Given the description of an element on the screen output the (x, y) to click on. 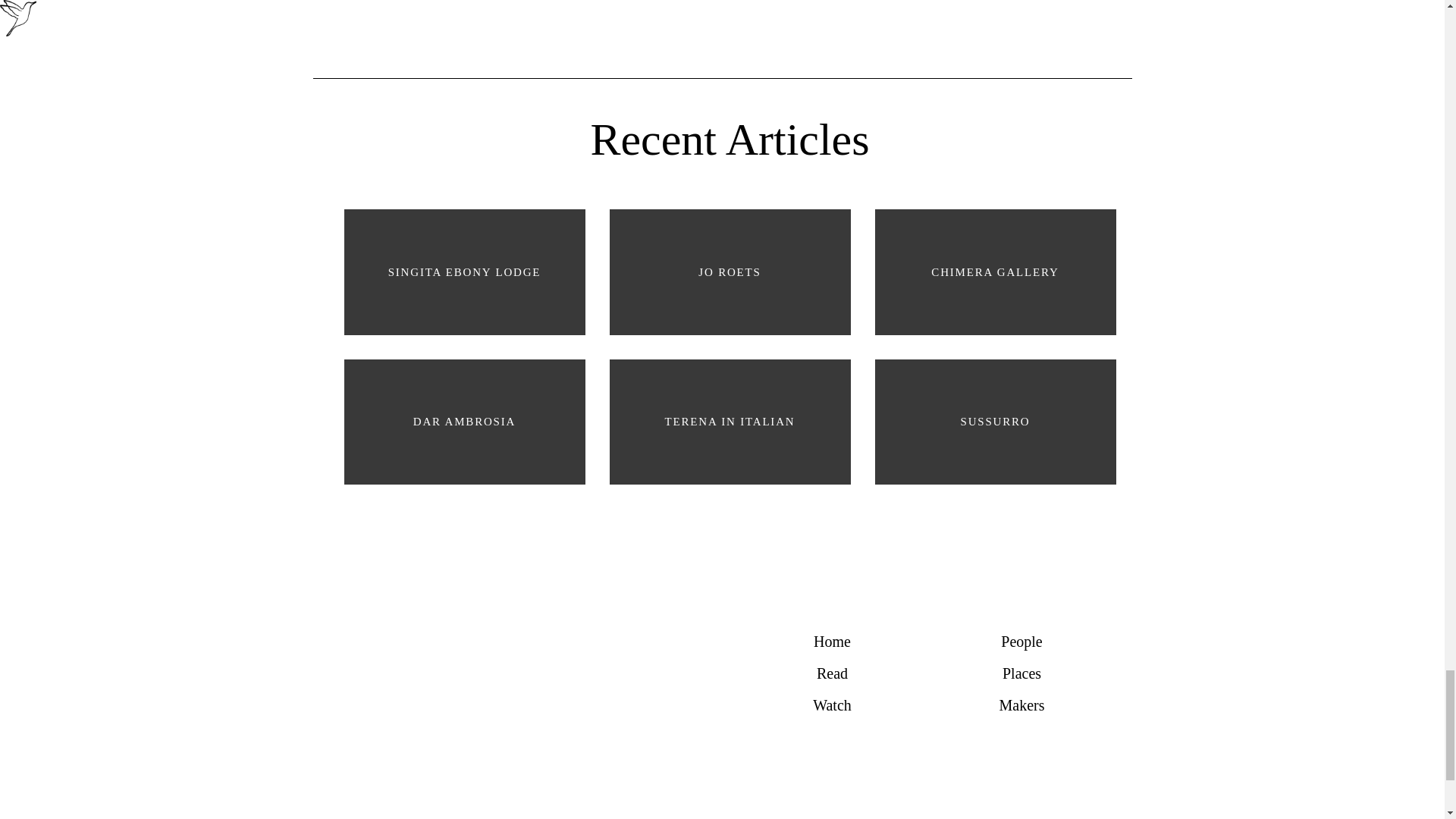
DAR AMBROSIA (463, 421)
TERENA IN ITALIAN (729, 421)
CHIMERA GALLERY (995, 271)
JO ROETS (729, 271)
SINGITA EBONY LODGE (463, 271)
SUSSURRO (995, 421)
